Given the description of an element on the screen output the (x, y) to click on. 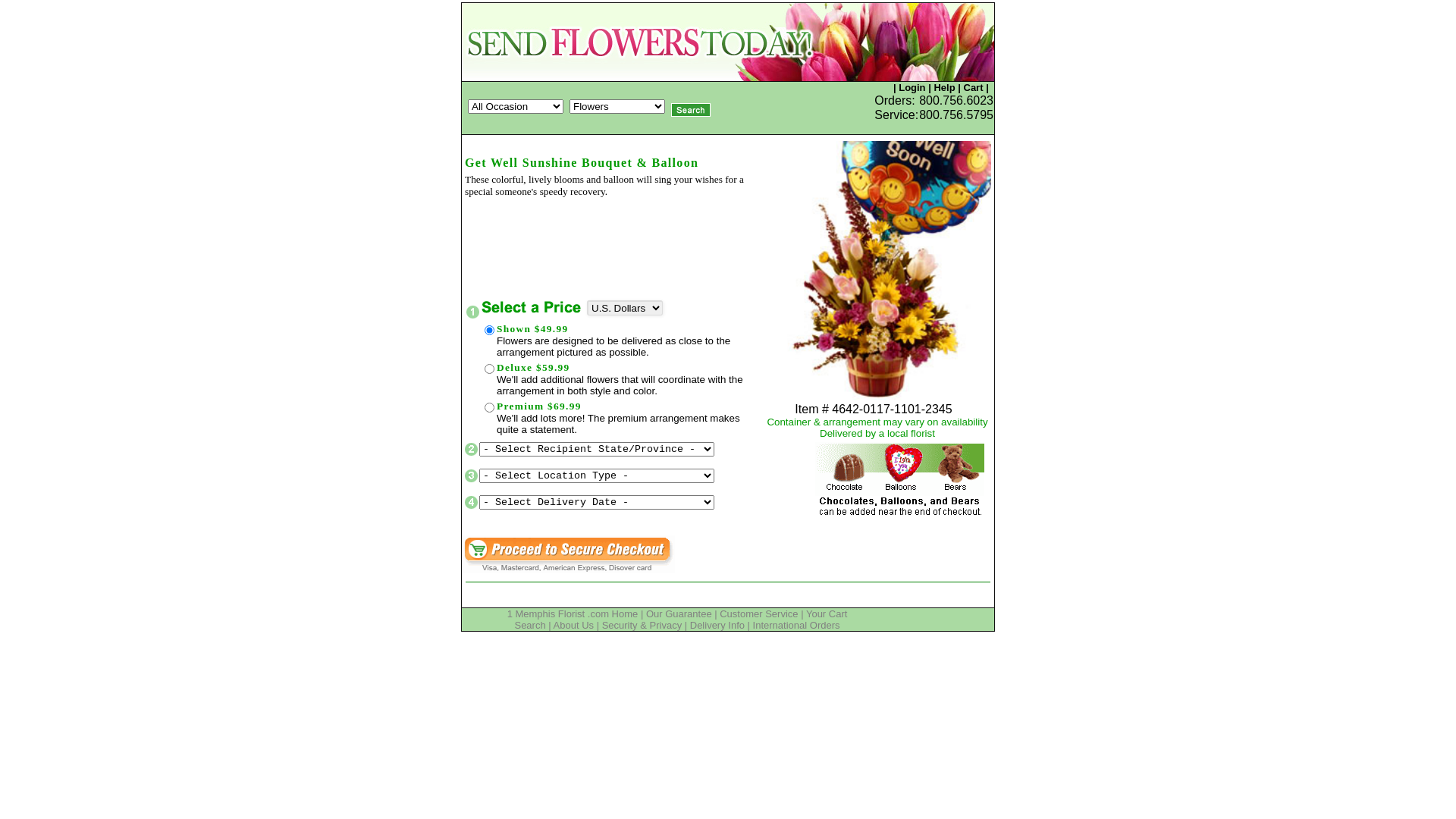
About Us Element type: text (573, 624)
Search Element type: text (529, 624)
Login Element type: text (911, 87)
Cart Element type: text (972, 87)
Security & Privacy Element type: text (641, 624)
Your Cart Element type: text (826, 613)
Delivery Info Element type: text (717, 624)
1 Memphis Florist .com Home Element type: text (572, 613)
Customer Service Element type: text (758, 613)
Our Guarantee Element type: text (679, 613)
Help Element type: text (943, 87)
International Orders Element type: text (796, 624)
